Given the description of an element on the screen output the (x, y) to click on. 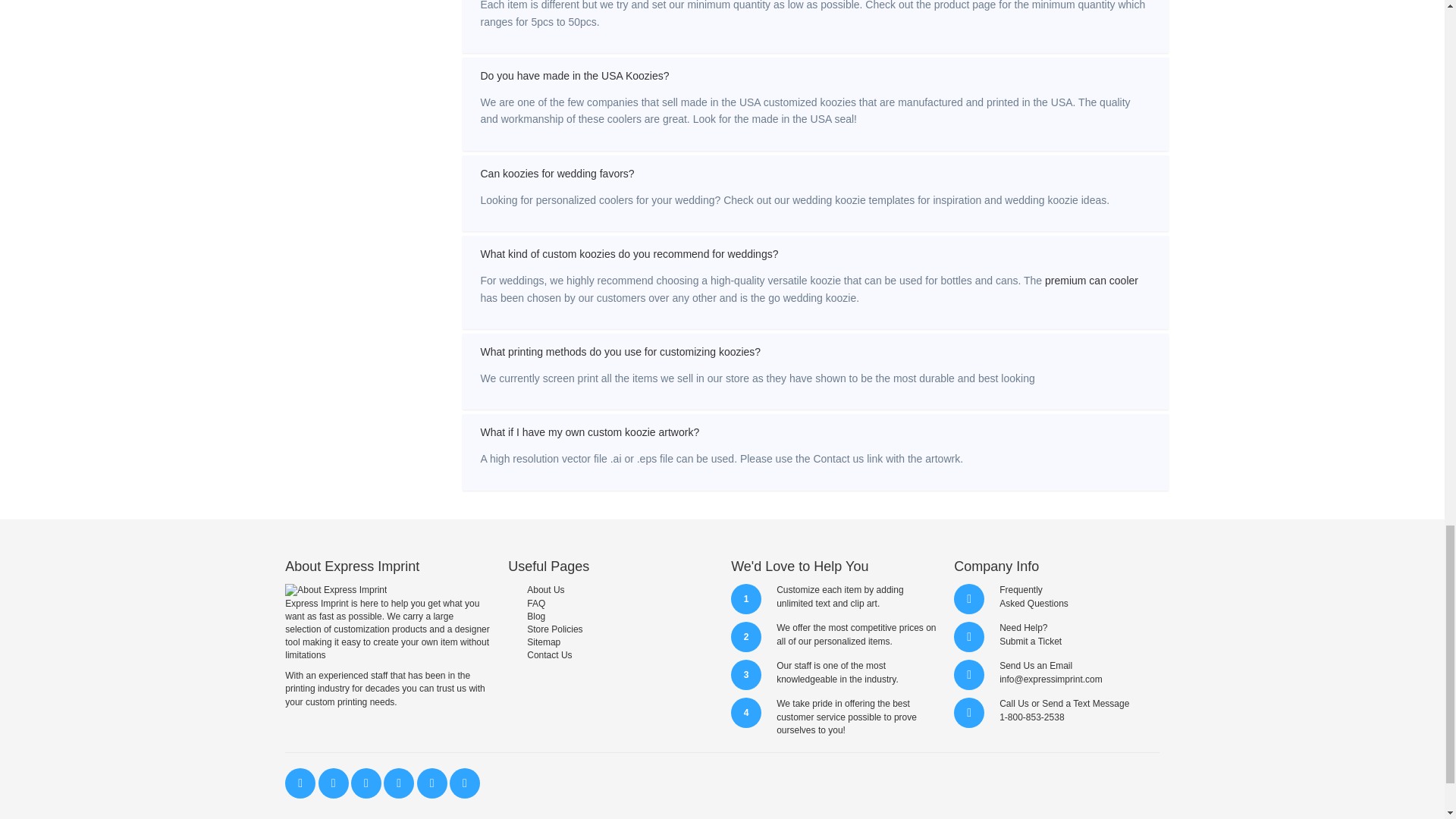
premium can cooler (1091, 280)
What kind of custom koozies do you recommend for weddings? (816, 253)
Can koozies for wedding favors? (816, 173)
Do you have made in the USA Koozies? (816, 75)
What printing methods do you use for customizing koozies? (816, 351)
